Given the description of an element on the screen output the (x, y) to click on. 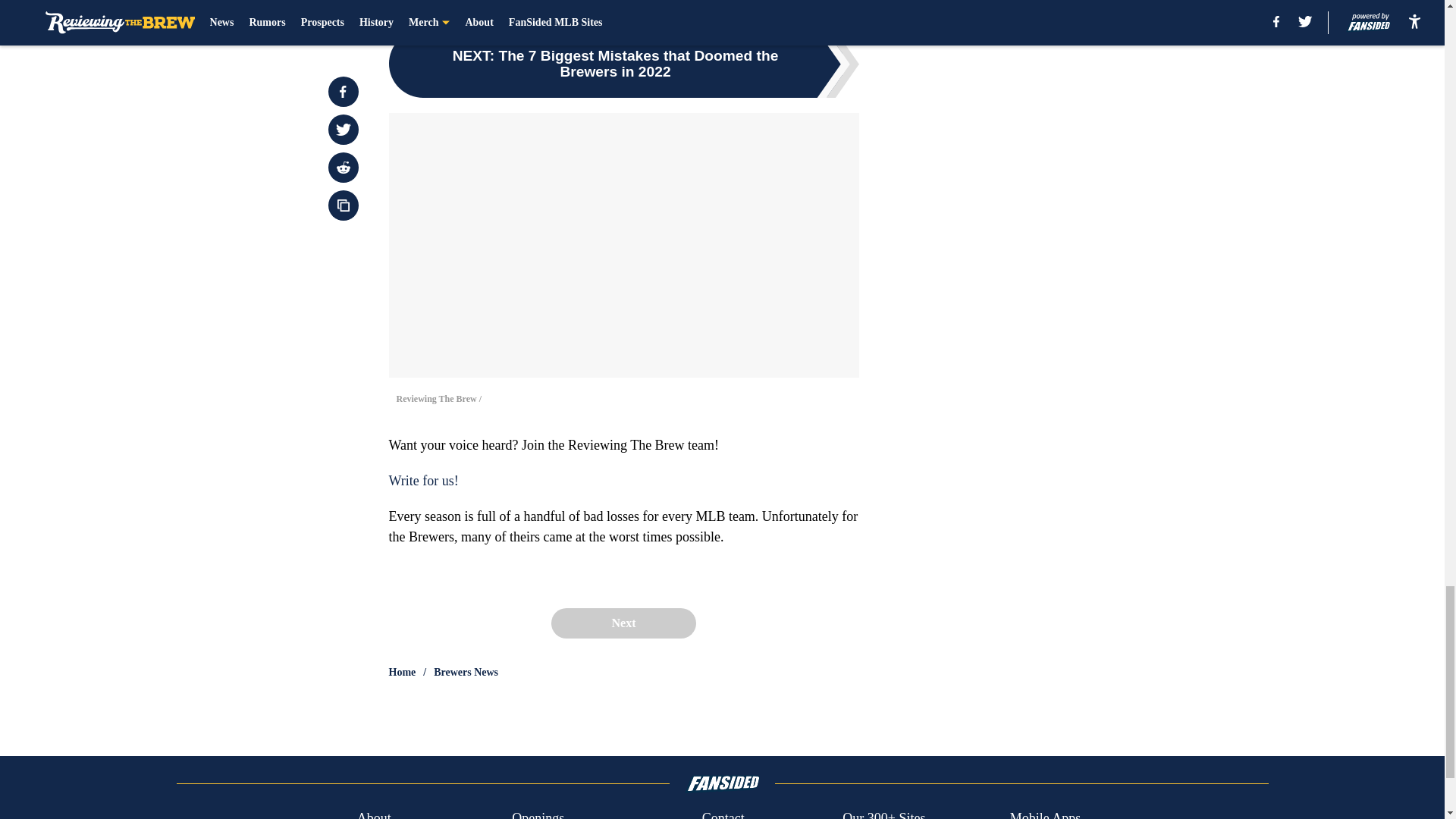
Mobile Apps (1045, 813)
NEXT: The 7 Biggest Mistakes that Doomed the Brewers in 2022 (623, 63)
Brewers News (465, 672)
Write for us! (423, 480)
About (373, 813)
Next (622, 623)
Home (401, 672)
Contact (722, 813)
Openings (538, 813)
